Given the description of an element on the screen output the (x, y) to click on. 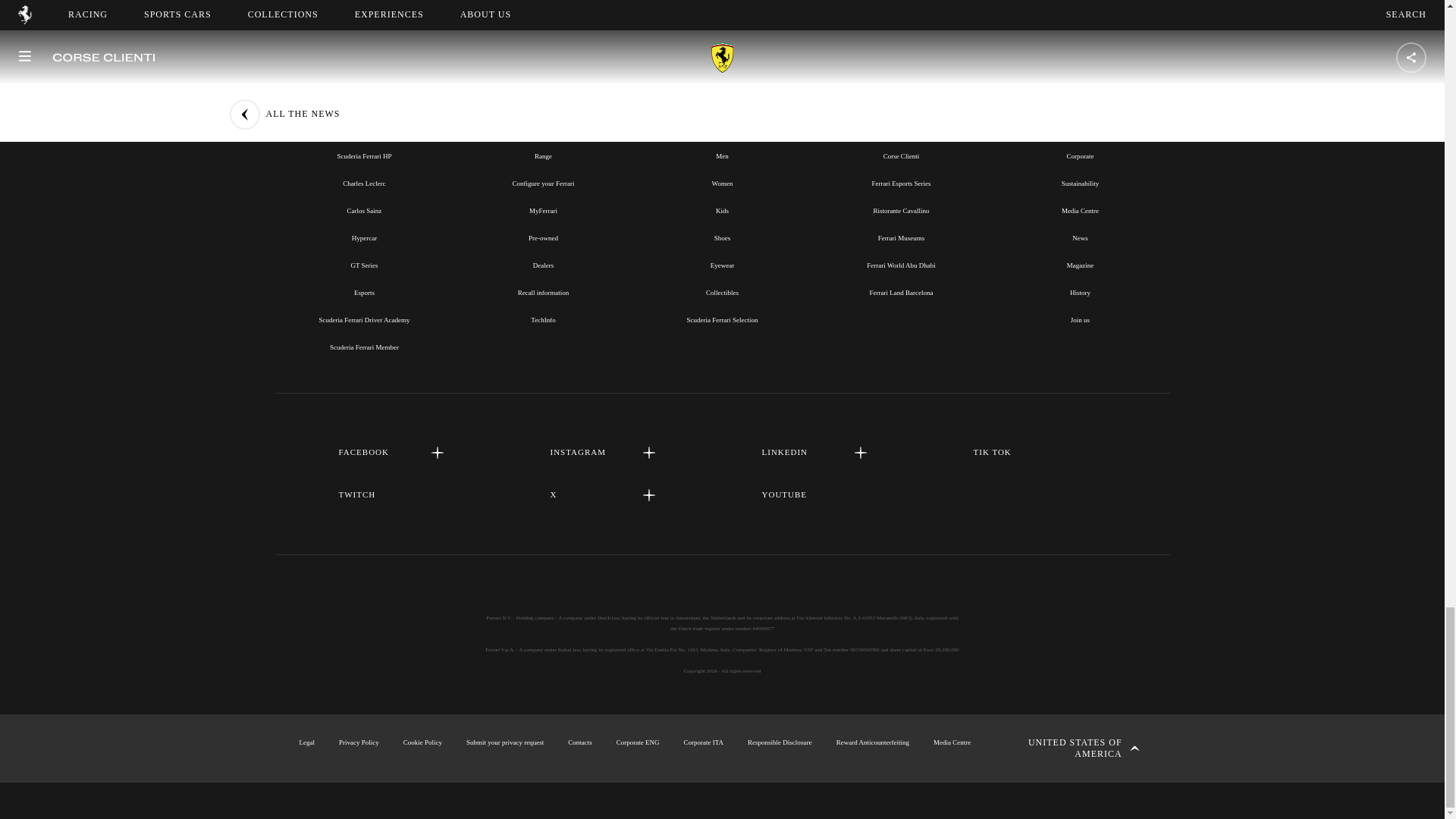
SUBSCRIBE (721, 2)
GT Series (363, 265)
Dealers (542, 265)
Configure your Ferrari (543, 183)
Scuderia Ferrari Driver Academy (363, 319)
MyFerrari (543, 210)
Carlos Sainz (364, 210)
Change country (1072, 748)
Range (542, 155)
Esports (363, 292)
Scuderia Ferrari Member (364, 347)
Hypercar (364, 237)
Pre-owned (542, 237)
Scuderia Ferrari HP (363, 155)
Charles Leclerc (363, 183)
